Given the description of an element on the screen output the (x, y) to click on. 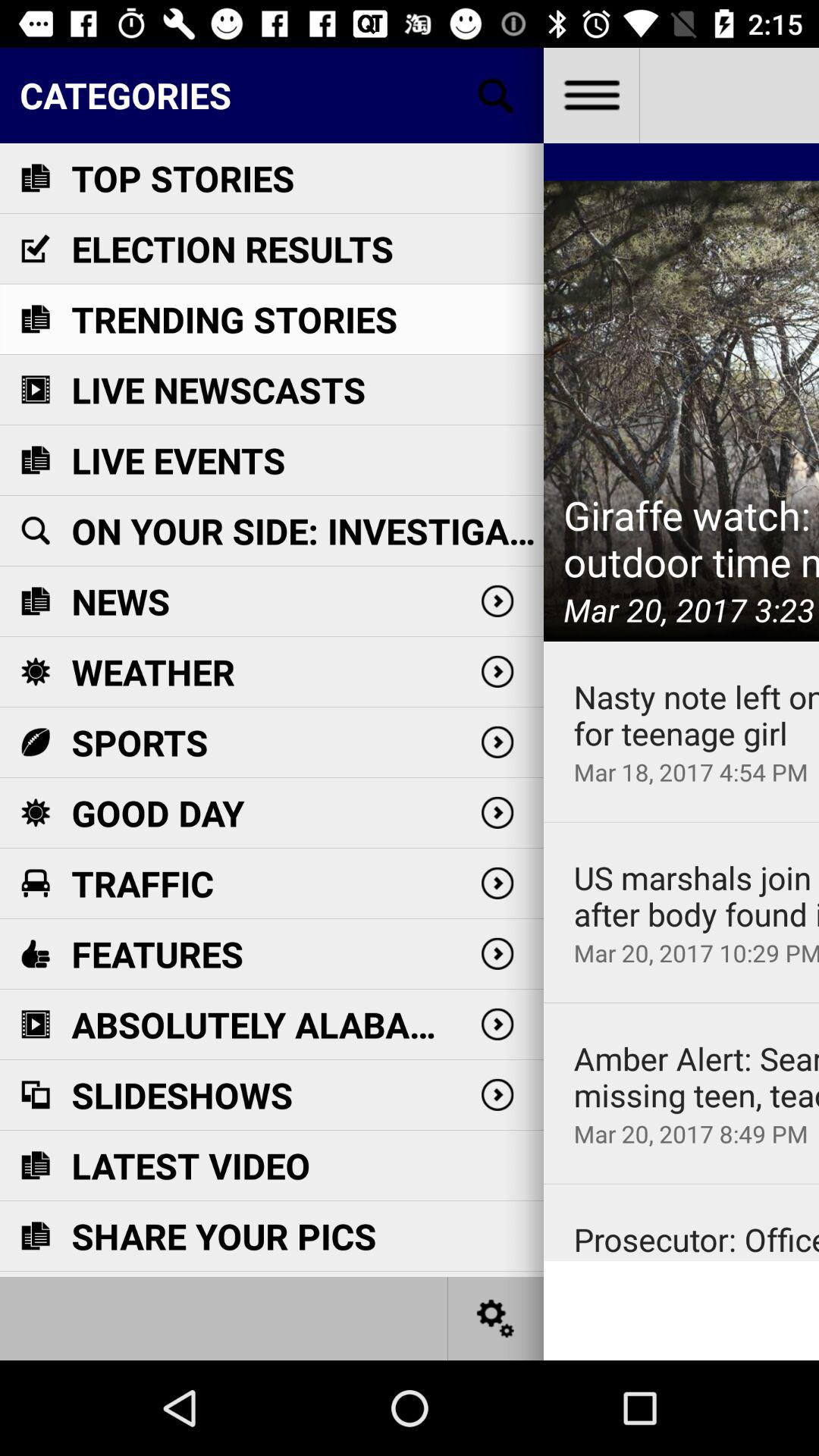
search image (495, 95)
